Given the description of an element on the screen output the (x, y) to click on. 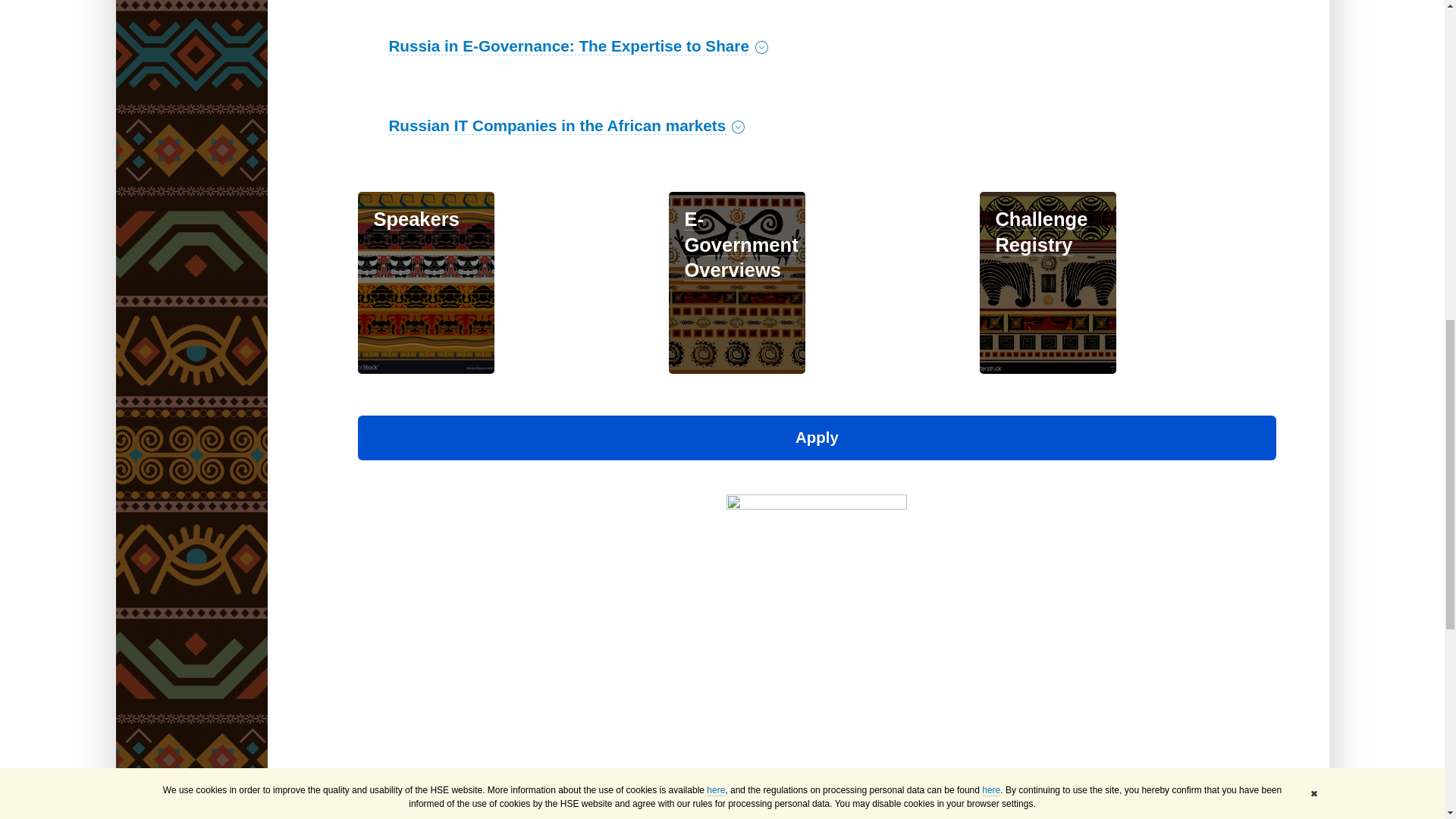
Telegram (387, 784)
WhatsApp (409, 784)
Viber (430, 784)
VKontakte (366, 784)
